Given the description of an element on the screen output the (x, y) to click on. 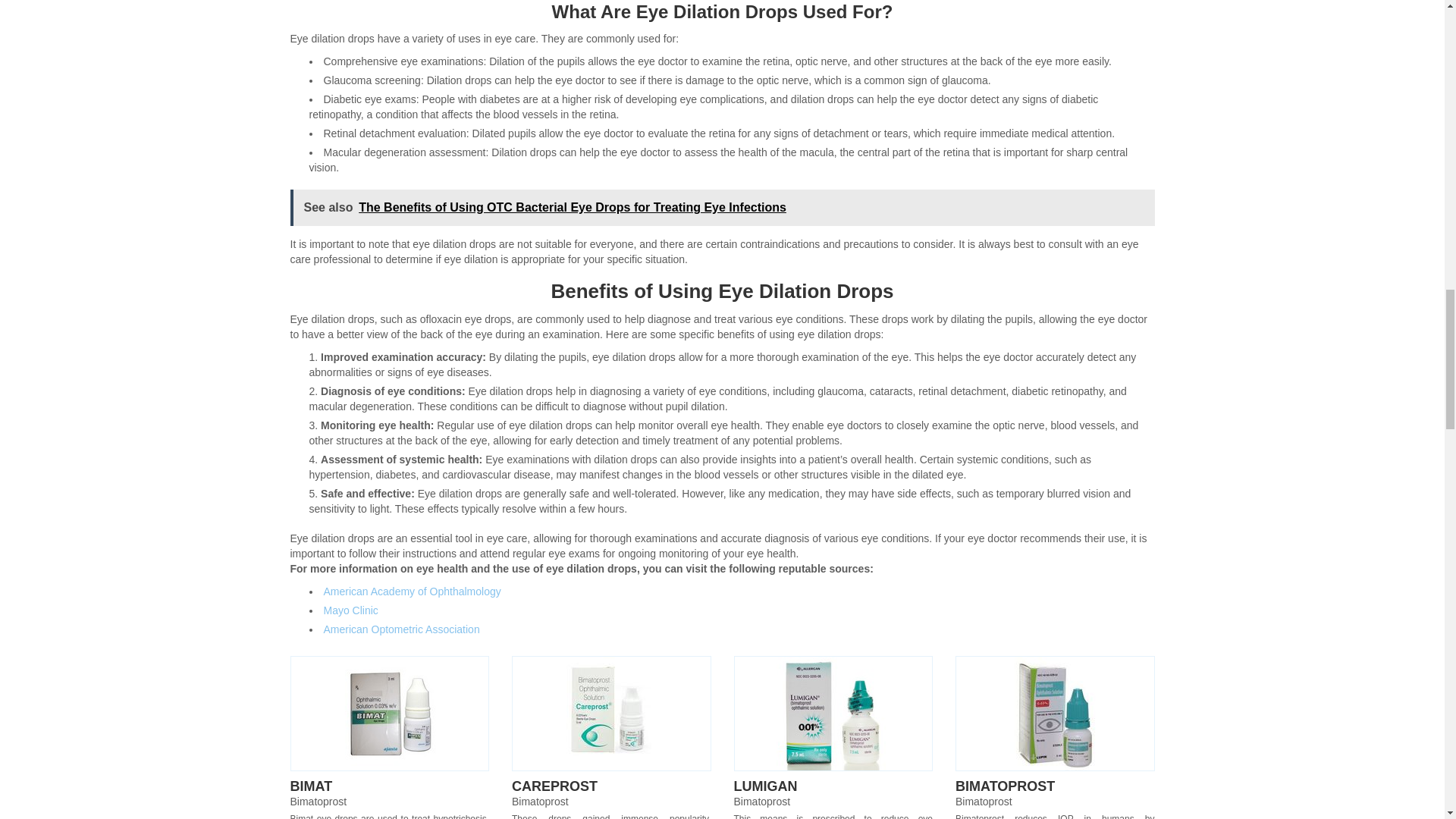
American Academy of Ophthalmology (411, 591)
CAREPROST (554, 785)
Lumigan (833, 713)
Careprost (611, 713)
American Optometric Association (401, 629)
Bimat (310, 785)
Careprost (554, 785)
BIMAT (310, 785)
Bimat (389, 713)
